Given the description of an element on the screen output the (x, y) to click on. 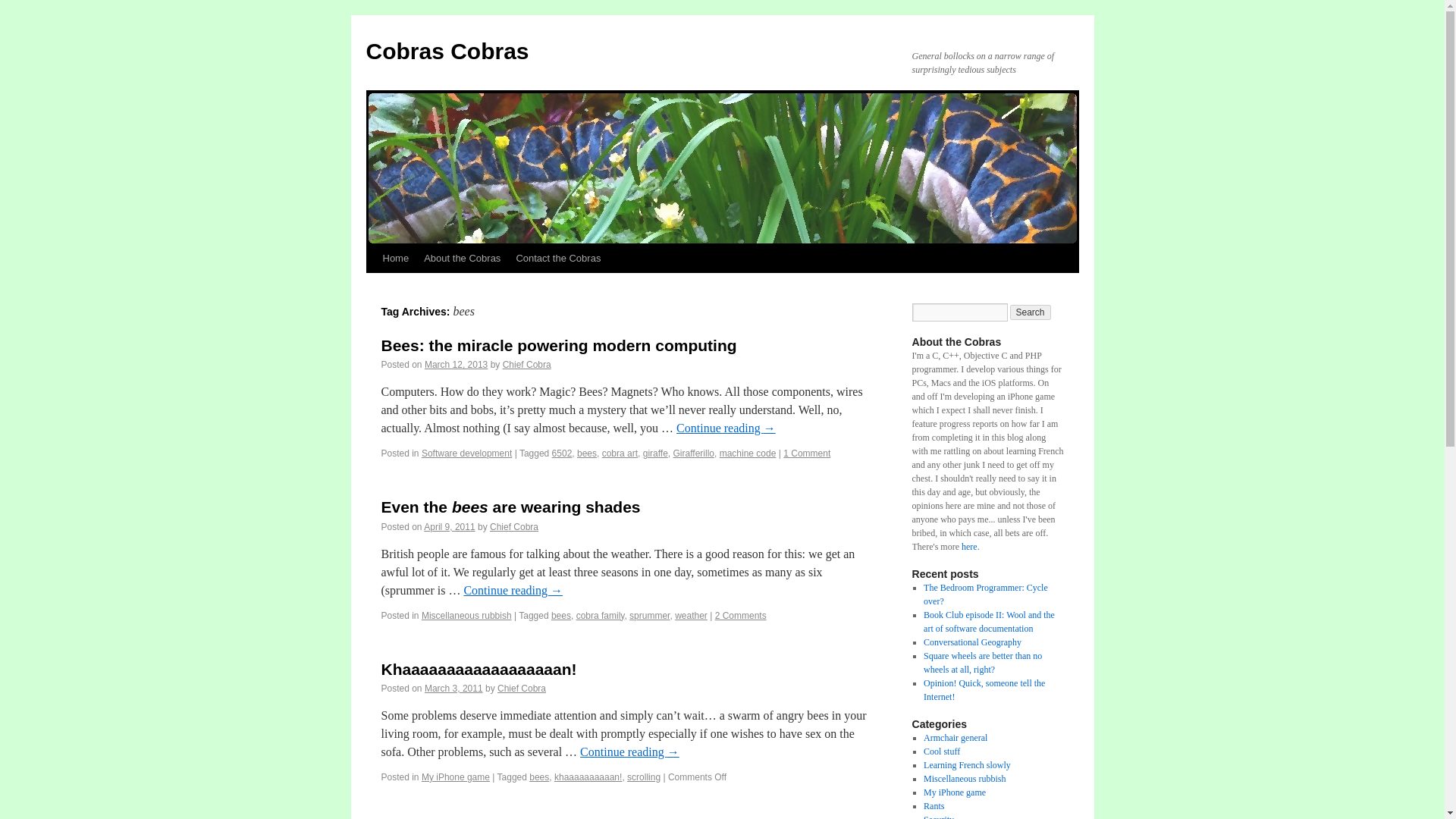
Bees: the miracle powering modern computing (558, 344)
giraffe (655, 452)
The Bedroom Programmer: Cycle over? (985, 594)
12:29 pm (454, 688)
Miscellaneous rubbish (467, 615)
Cobras Cobras (446, 50)
cobra family (600, 615)
9:29 pm (448, 526)
Home (395, 258)
About the Cobras (462, 258)
March 3, 2011 (454, 688)
1 Comment (806, 452)
Contact the Cobras (558, 258)
Even the bees are wearing shades (510, 506)
